Given the description of an element on the screen output the (x, y) to click on. 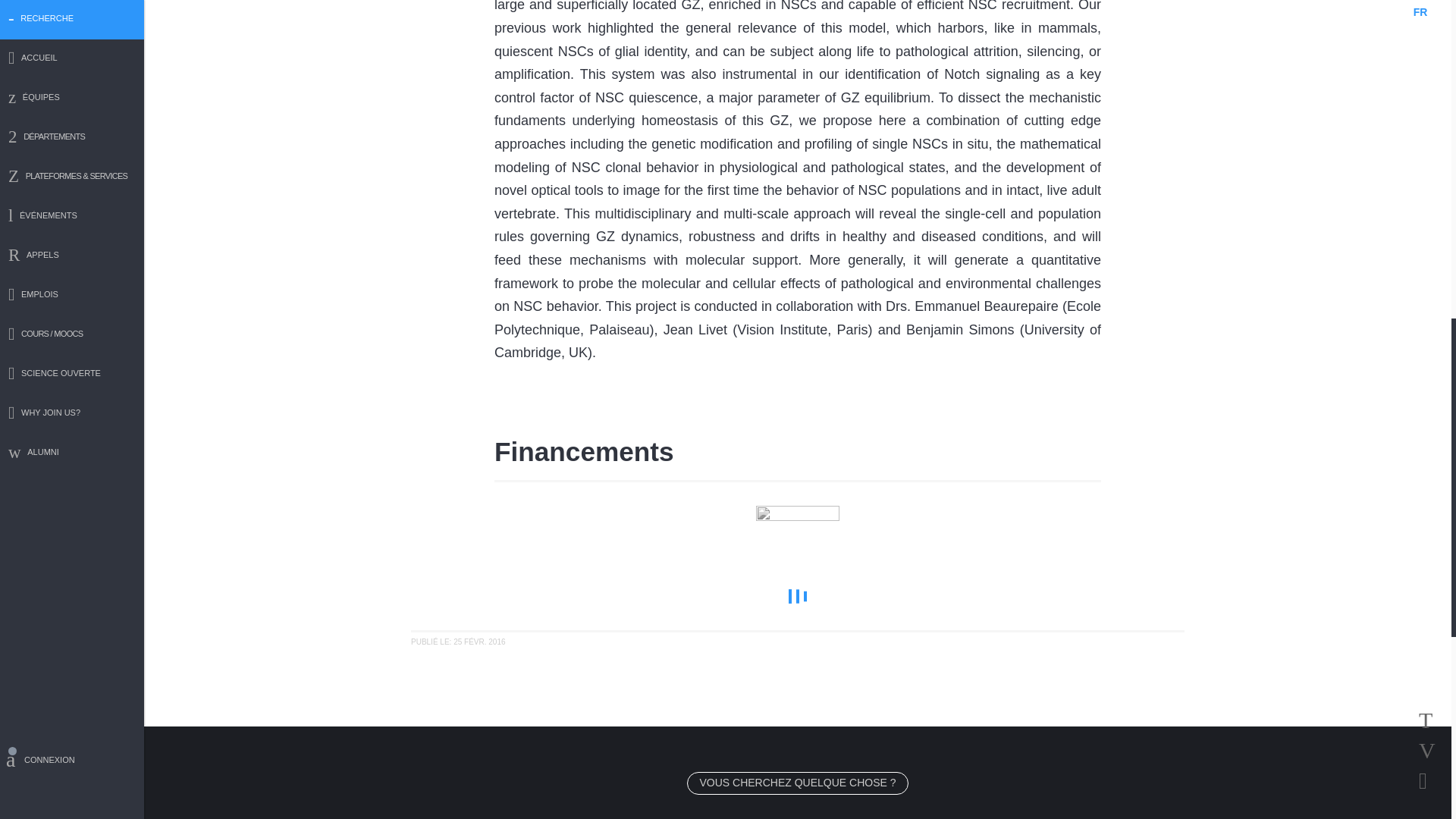
Permalien vers ERC-2012-AdG Systematics (457, 642)
0 (797, 595)
